Given the description of an element on the screen output the (x, y) to click on. 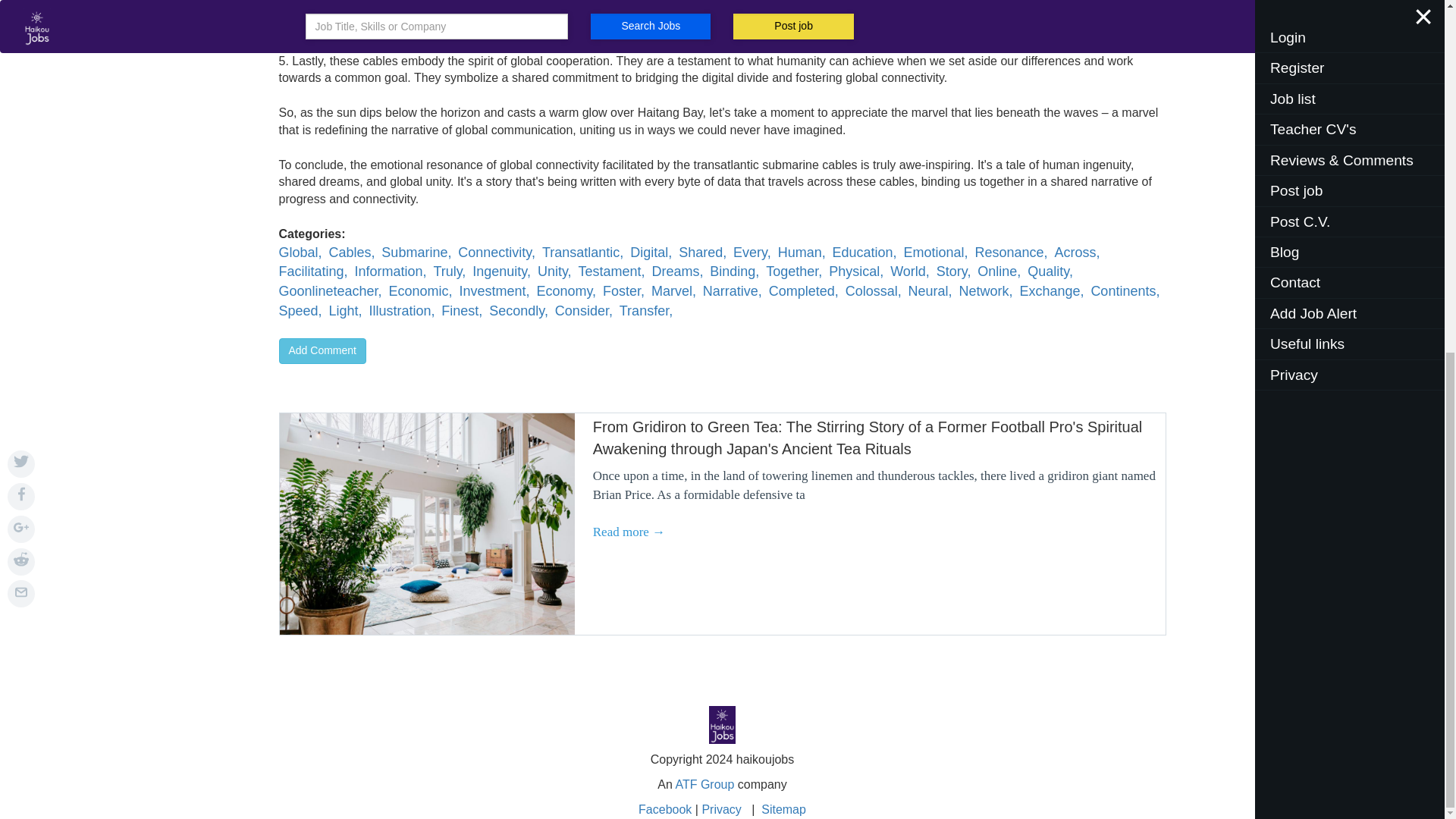
Facilitating, (313, 271)
Digital, (650, 252)
Human, (801, 252)
Resonance, (1010, 252)
Shared, (702, 252)
Dreams, (676, 271)
Every, (752, 252)
Submarine, (416, 252)
Testament, (611, 271)
Connectivity, (496, 252)
Ingenuity, (501, 271)
Across, (1076, 252)
Unity, (554, 271)
Binding, (734, 271)
Truly, (448, 271)
